Given the description of an element on the screen output the (x, y) to click on. 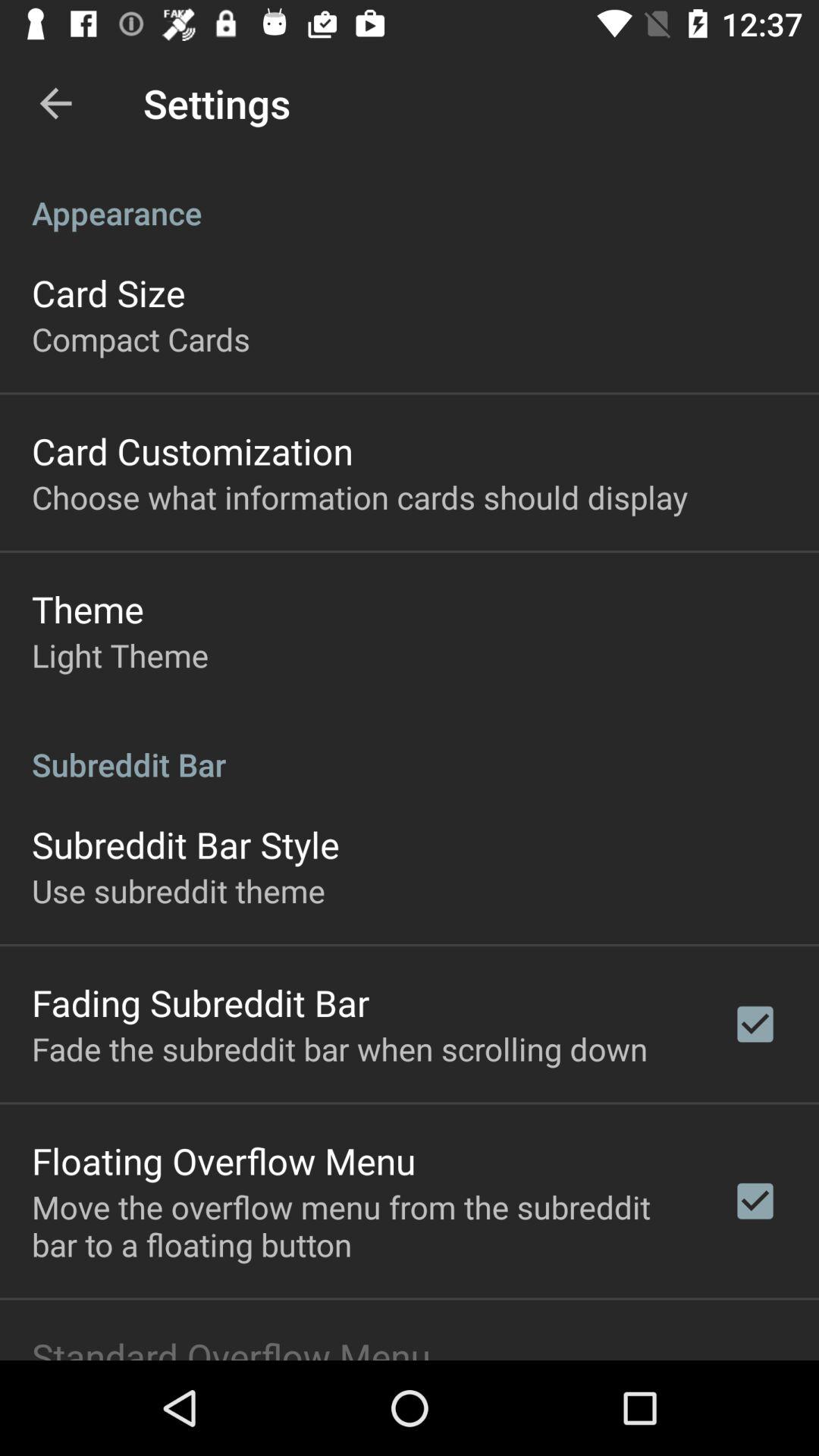
select icon below appearance item (108, 292)
